Given the description of an element on the screen output the (x, y) to click on. 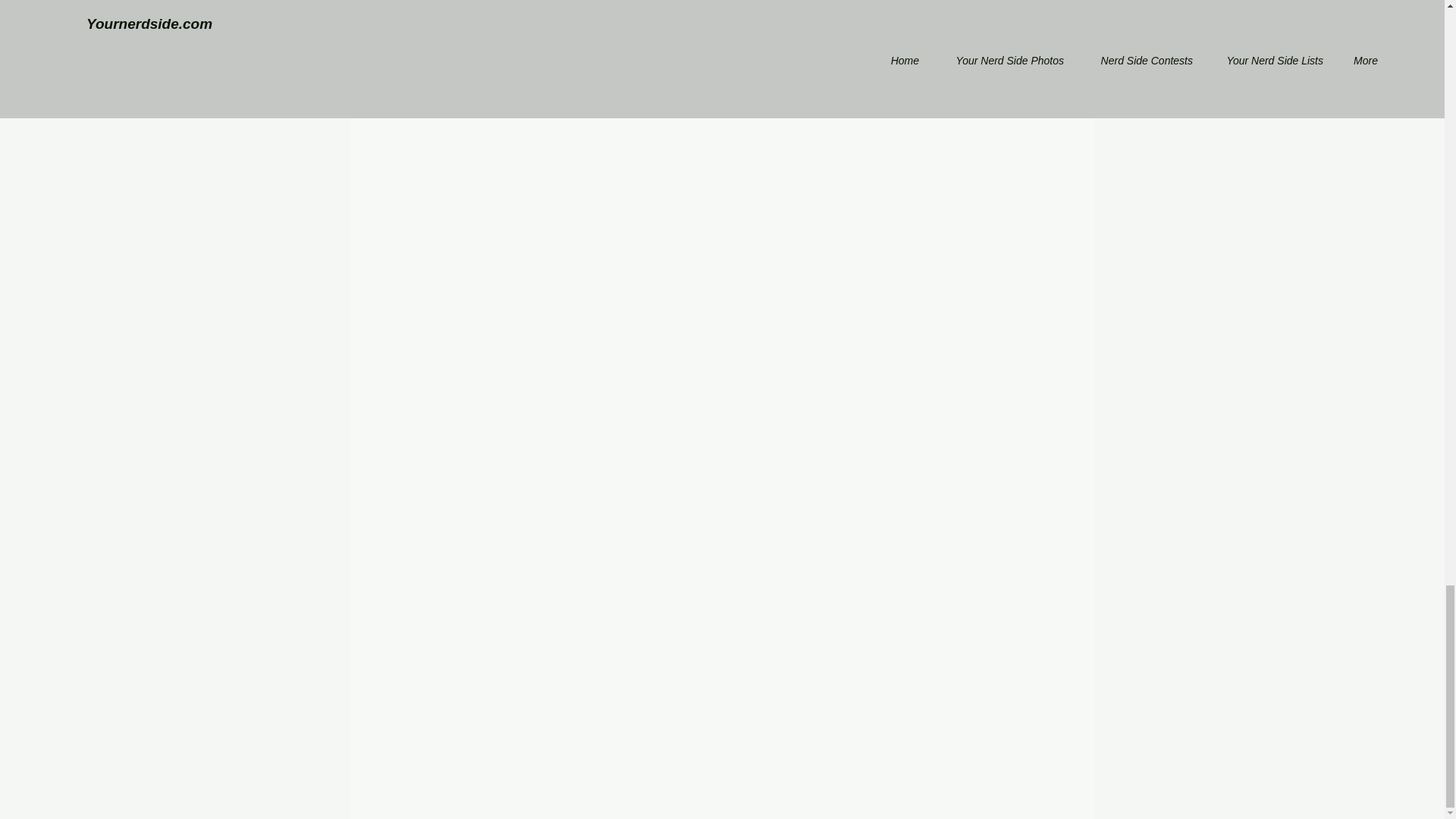
0 (434, 8)
